Given the description of an element on the screen output the (x, y) to click on. 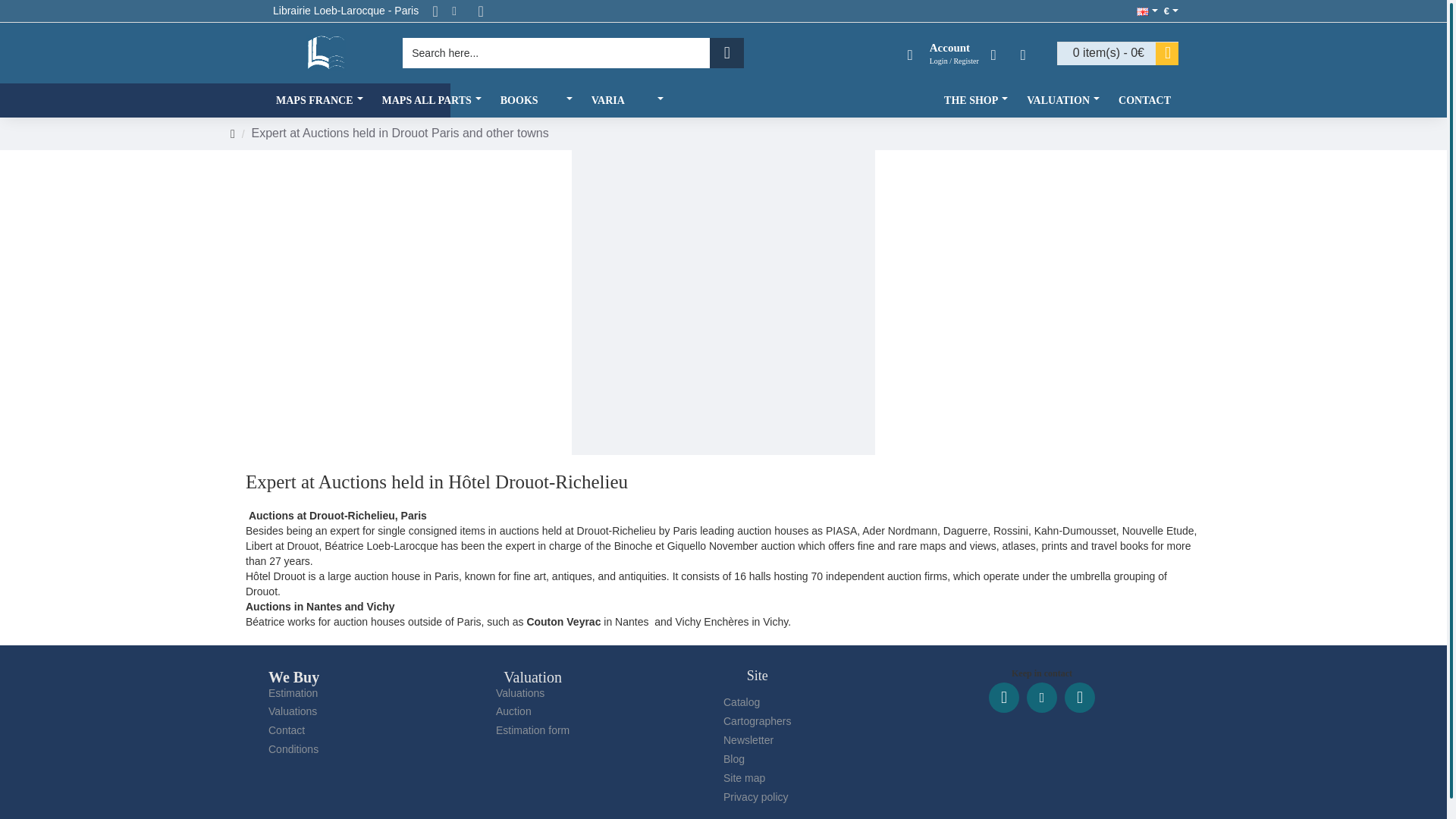
VARIA (629, 100)
VALUATION (1064, 100)
Librairie Loeb-Larocque (325, 53)
THE SHOP (977, 100)
View Cart (1117, 53)
MAPS FRANCE (320, 100)
CONTACT (1143, 100)
Librairie Loeb-Larocque - Paris (345, 11)
English (1142, 11)
BOOKS (538, 100)
MAPS ALL PARTS (433, 100)
